Given the description of an element on the screen output the (x, y) to click on. 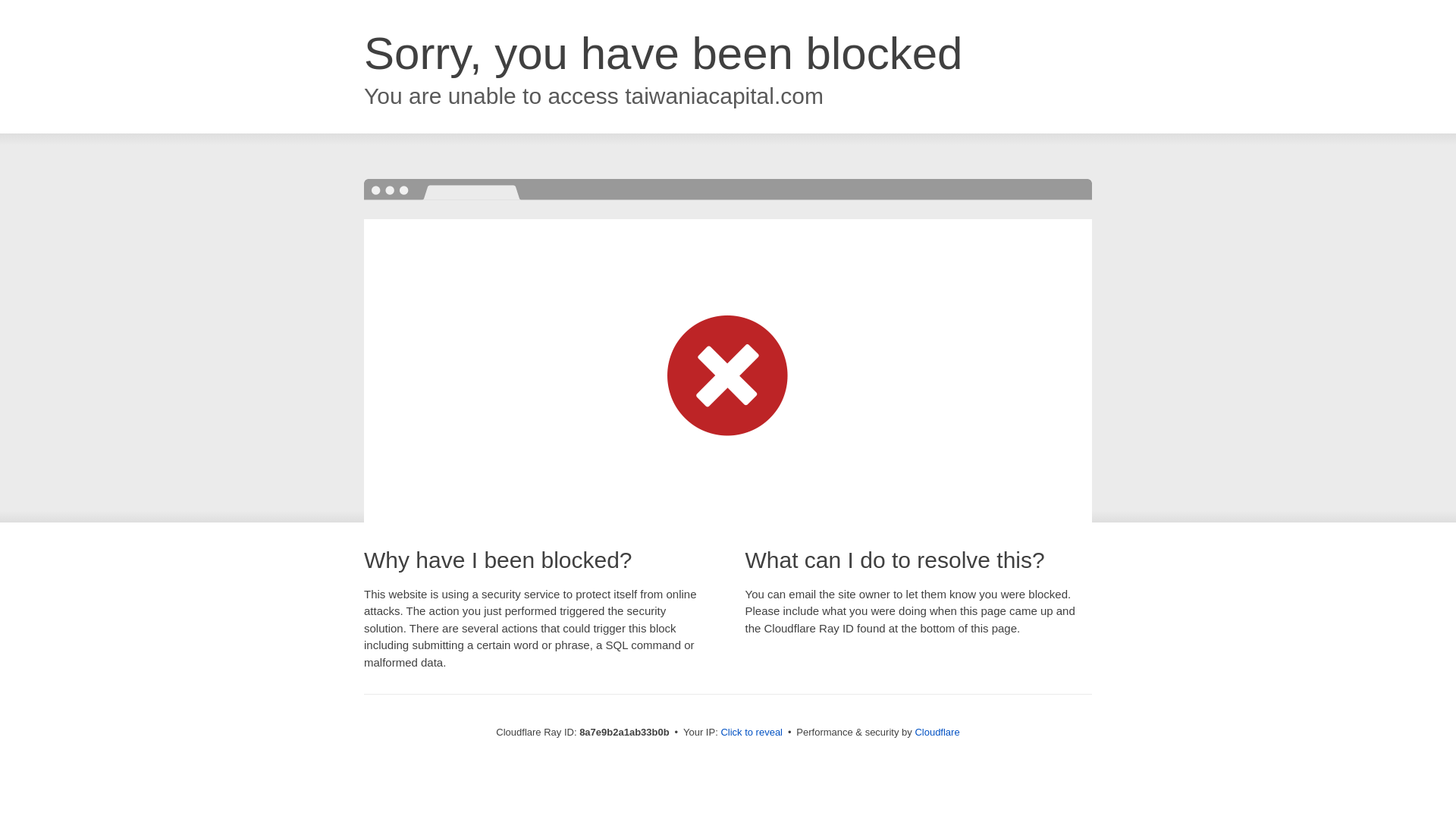
Click to reveal (751, 732)
Cloudflare (936, 731)
